Given the description of an element on the screen output the (x, y) to click on. 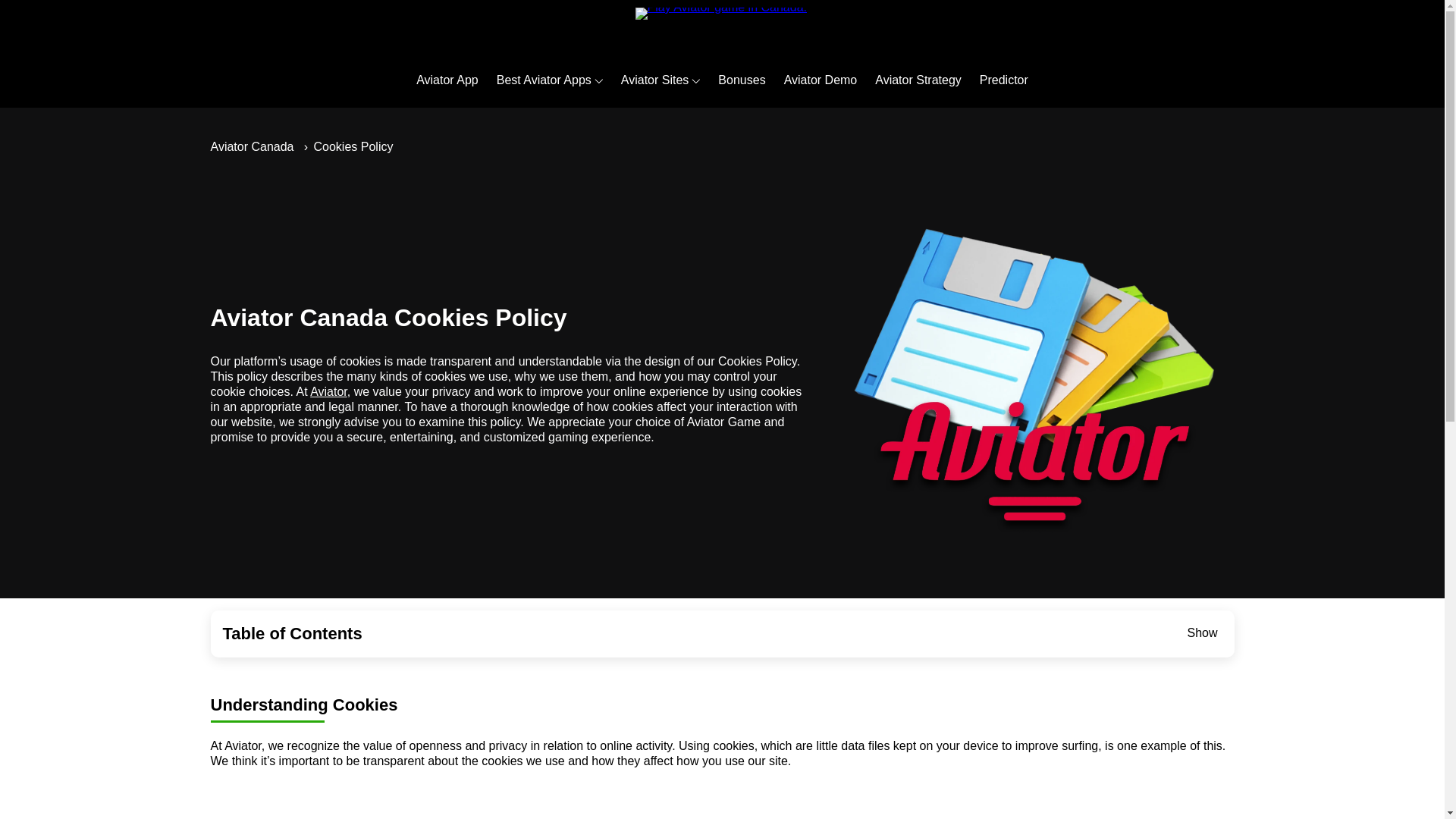
Show (1201, 632)
Main page (721, 26)
Aviator (328, 391)
Aviator Demo (820, 79)
Aviator Sites (654, 79)
Bonuses (741, 79)
Aviator App (447, 79)
Best Aviator Apps (543, 79)
Predictor (1003, 79)
Aviator Canada (252, 146)
Aviator Strategy (917, 79)
